Given the description of an element on the screen output the (x, y) to click on. 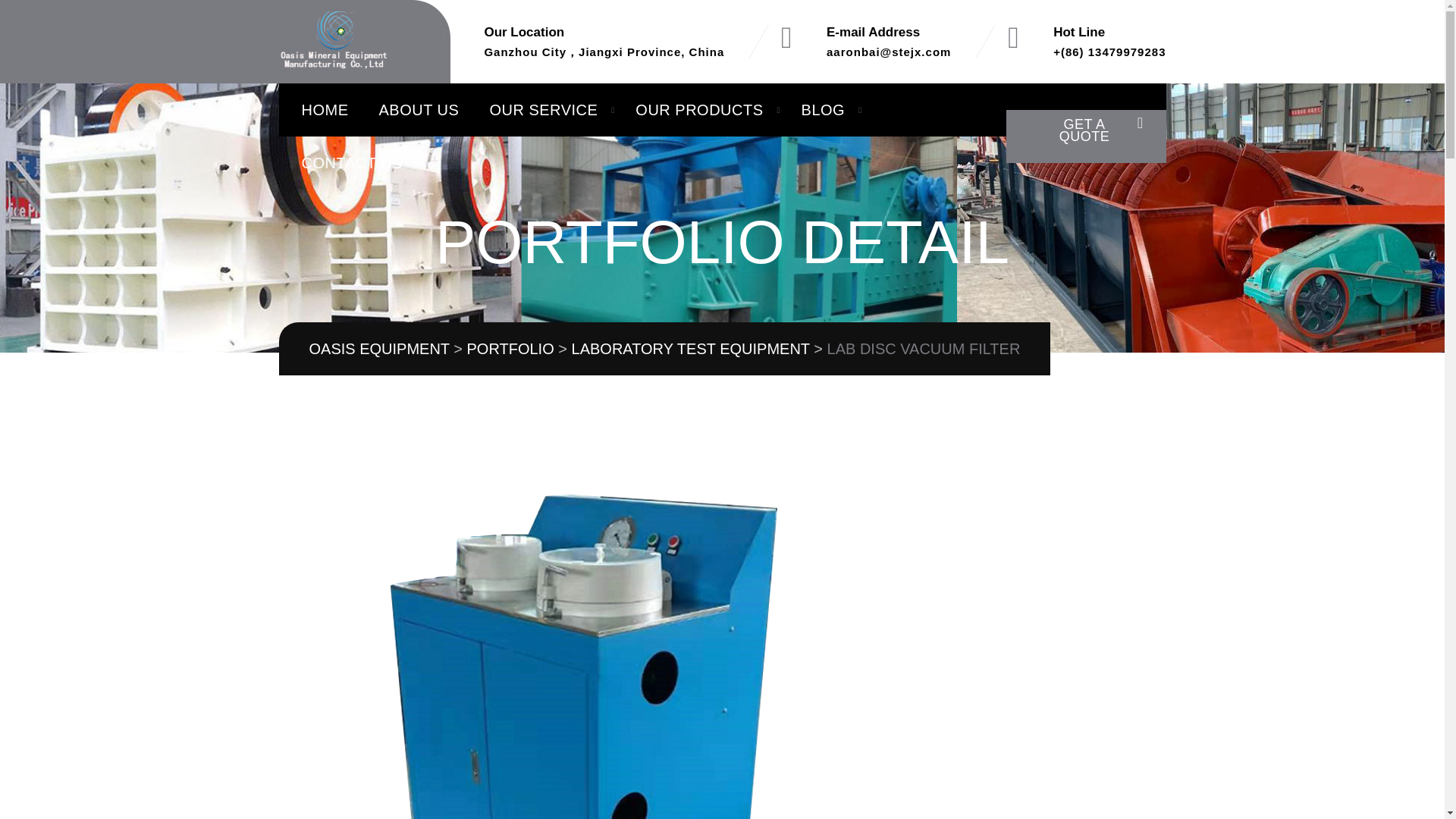
OUR PRODUCTS (698, 109)
LABORATORY TEST EQUIPMENT (690, 348)
Oasis Equipment (334, 41)
GET A QUOTE (1086, 135)
OASIS EQUIPMENT (378, 348)
CONTACT US (352, 162)
PORTFOLIO (510, 348)
OUR SERVICE (542, 109)
ABOUT US (419, 109)
